Given the description of an element on the screen output the (x, y) to click on. 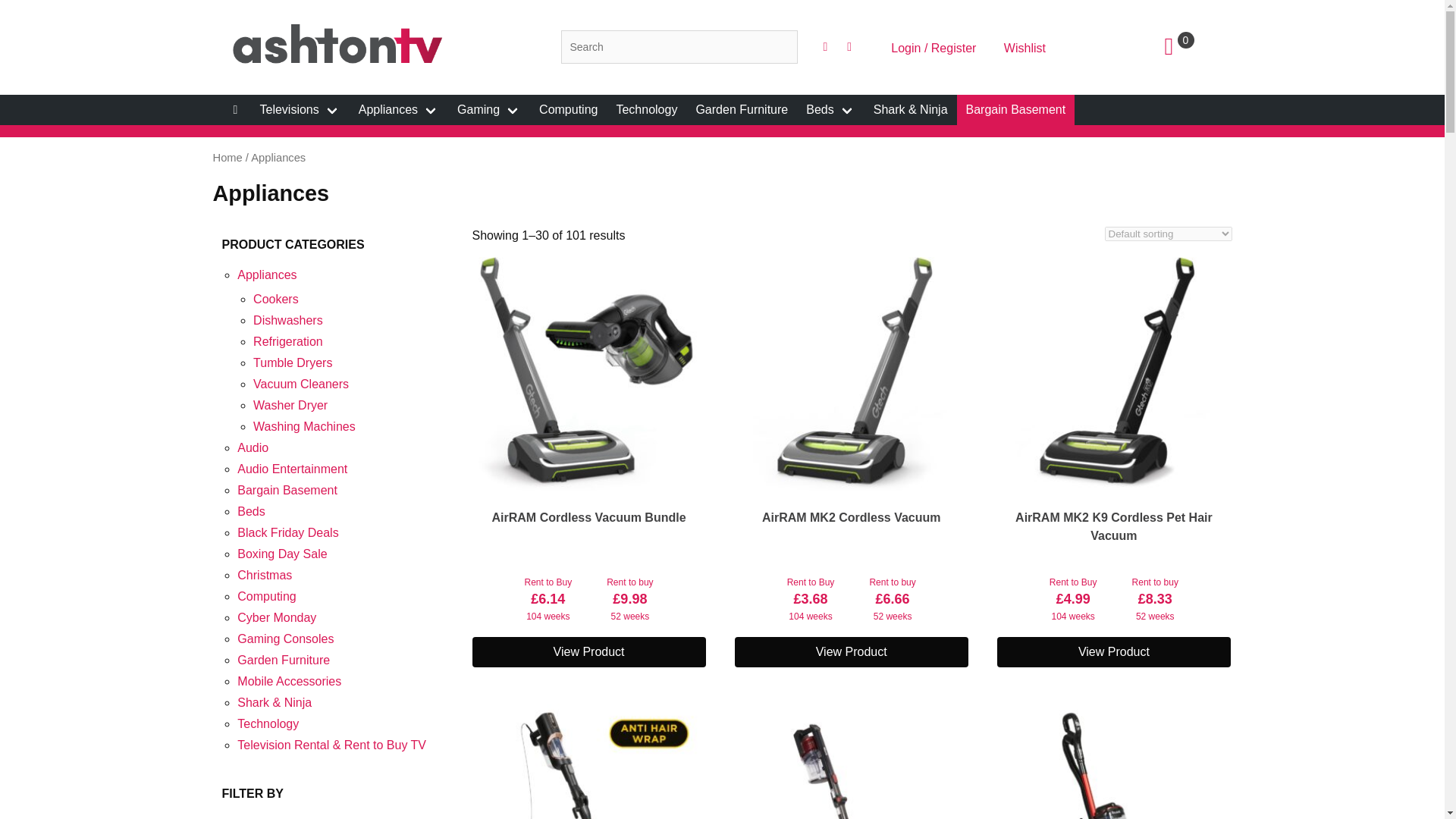
Wishlist (1024, 48)
Beds (829, 110)
Technology (646, 110)
Televisions (299, 110)
View your shopping cart (1189, 46)
facebook (824, 46)
Browse our appliances for rental and rent to buy (398, 110)
Appliances (398, 110)
0 (1189, 46)
Garden Furniture (740, 110)
